Given the description of an element on the screen output the (x, y) to click on. 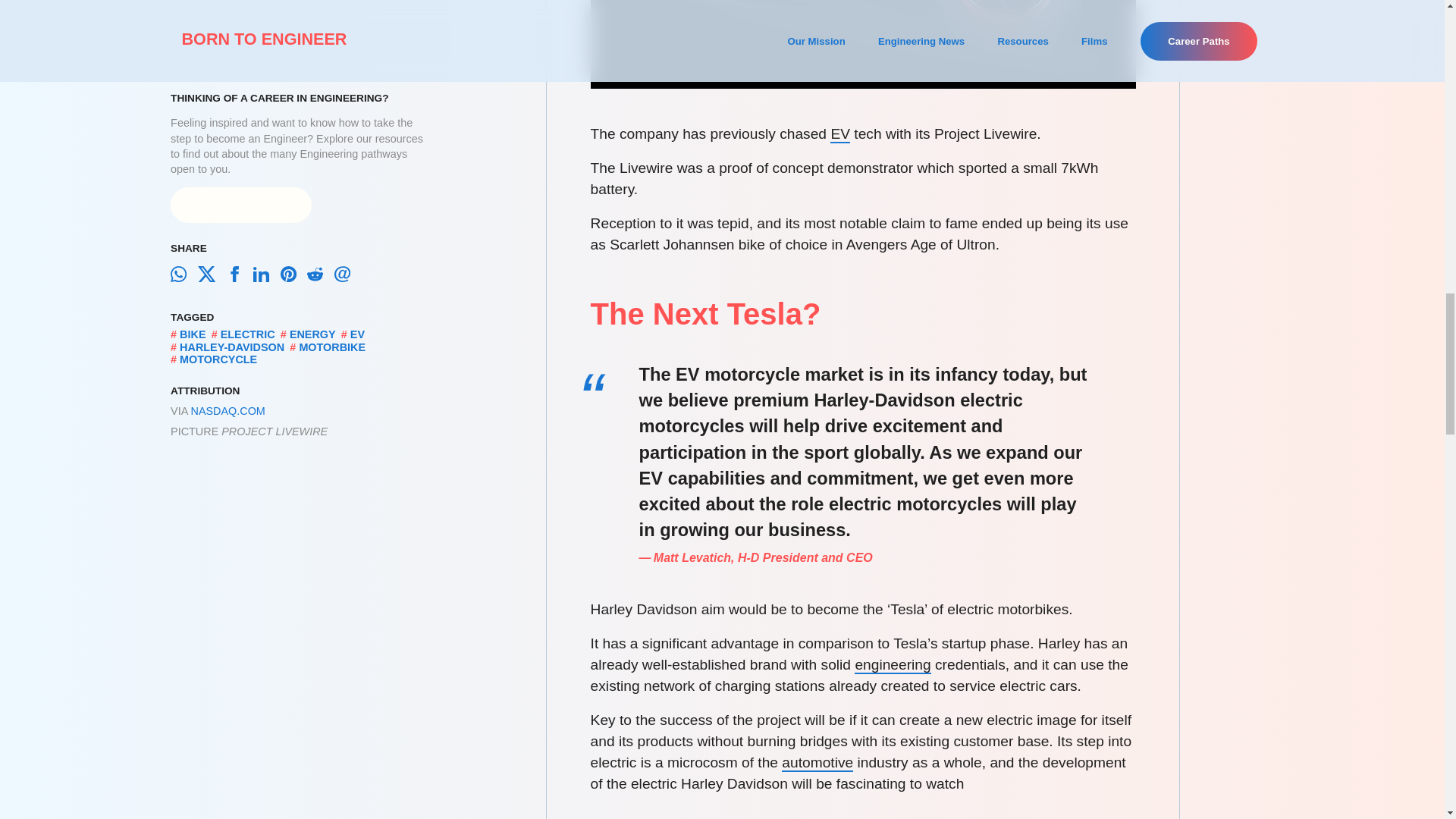
engineering (892, 665)
EV (839, 134)
Harley Davidson wants to become the Tesla of motorbikes 1 (863, 44)
